Given the description of an element on the screen output the (x, y) to click on. 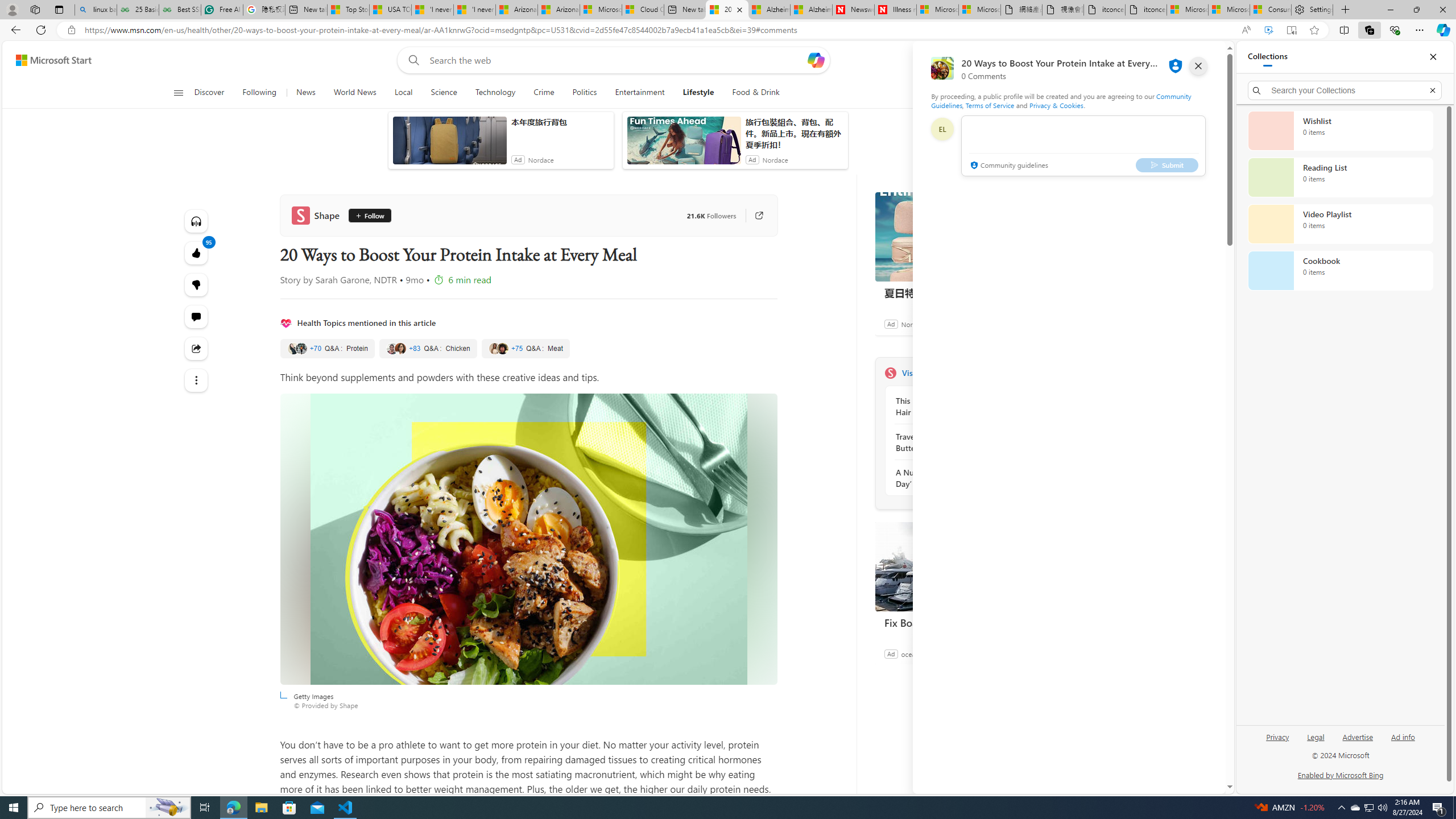
Profile Picture (941, 128)
